Given the description of an element on the screen output the (x, y) to click on. 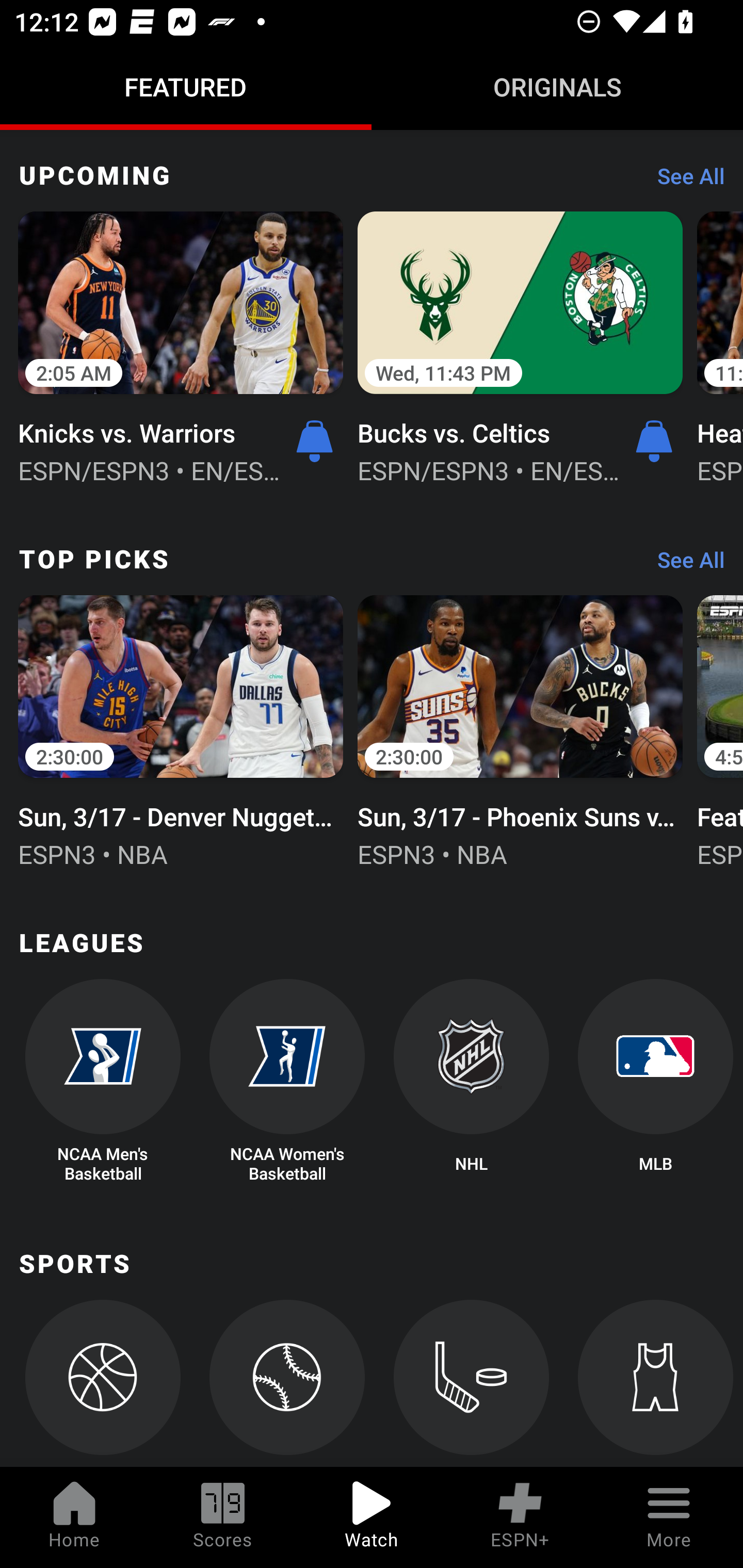
Originals ORIGINALS (557, 86)
See All (683, 180)
11:43 PM Heat vs. 76ers ESPN/ESPN3 • EN/ES • NBA (719, 345)
See All (683, 564)
NCAA Men's Basketball (102, 1081)
NCAA Women's Basketball (286, 1081)
NHL (471, 1081)
MLB (655, 1081)
Basketball (102, 1383)
Baseball (286, 1383)
Hockey (471, 1383)
Wrestling (655, 1383)
Home (74, 1517)
Scores (222, 1517)
ESPN+ (519, 1517)
More (668, 1517)
